Given the description of an element on the screen output the (x, y) to click on. 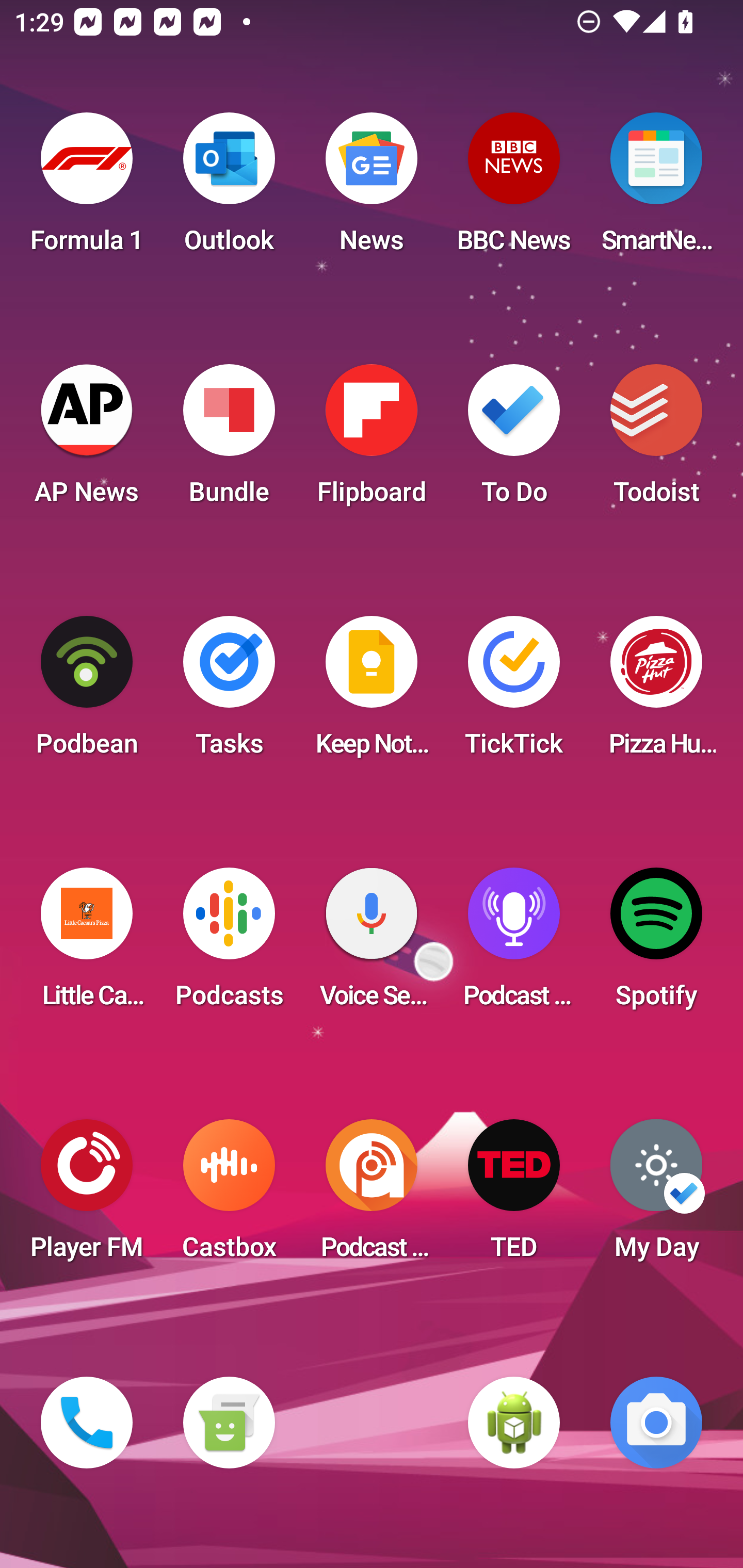
Formula 1 (86, 188)
Outlook (228, 188)
News (371, 188)
BBC News (513, 188)
SmartNews (656, 188)
AP News (86, 440)
Bundle (228, 440)
Flipboard (371, 440)
To Do (513, 440)
Todoist (656, 440)
Podbean (86, 692)
Tasks (228, 692)
Keep Notes (371, 692)
TickTick (513, 692)
Pizza Hut HK & Macau (656, 692)
Little Caesars Pizza (86, 943)
Podcasts (228, 943)
Voice Search (371, 943)
Podcast Player (513, 943)
Spotify (656, 943)
Player FM (86, 1195)
Castbox (228, 1195)
Podcast Addict (371, 1195)
TED (513, 1195)
My Day (656, 1195)
Phone (86, 1422)
Messaging (228, 1422)
WebView Browser Tester (513, 1422)
Camera (656, 1422)
